Given the description of an element on the screen output the (x, y) to click on. 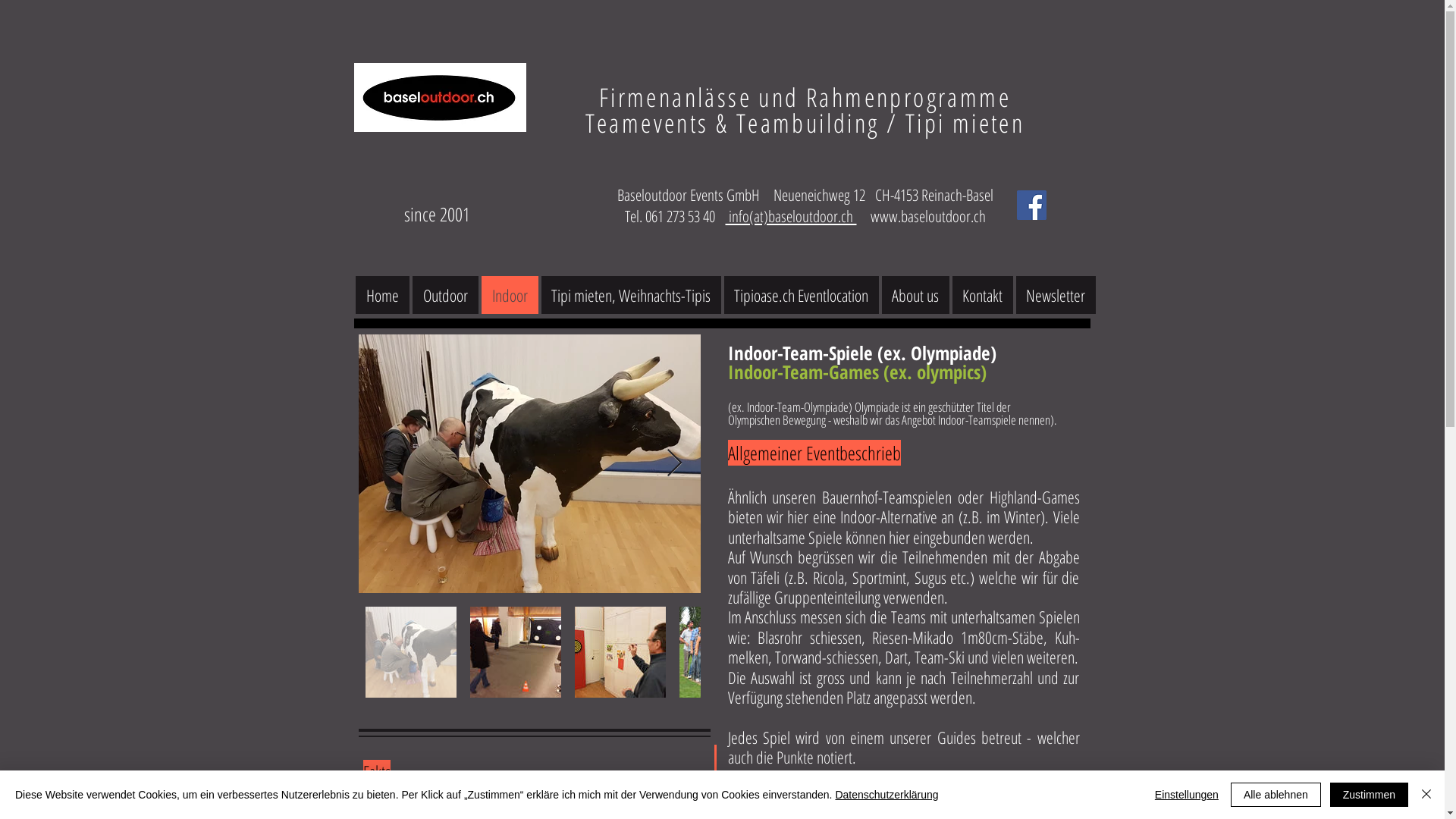
www.baseloutdoor.ch Element type: text (927, 215)
About us Element type: text (914, 294)
Outdoor Element type: text (445, 294)
Tipi mieten, Weihnachts-Tipis Element type: text (631, 294)
Tipioase.ch Eventlocation Element type: text (800, 294)
info(at)baseloutdoor.ch  Element type: text (790, 215)
Alle ablehnen Element type: text (1275, 794)
Kontakt Element type: text (982, 294)
Zustimmen Element type: text (1369, 794)
Indoor Element type: text (508, 294)
Newsletter Element type: text (1055, 294)
Home Element type: text (381, 294)
